Given the description of an element on the screen output the (x, y) to click on. 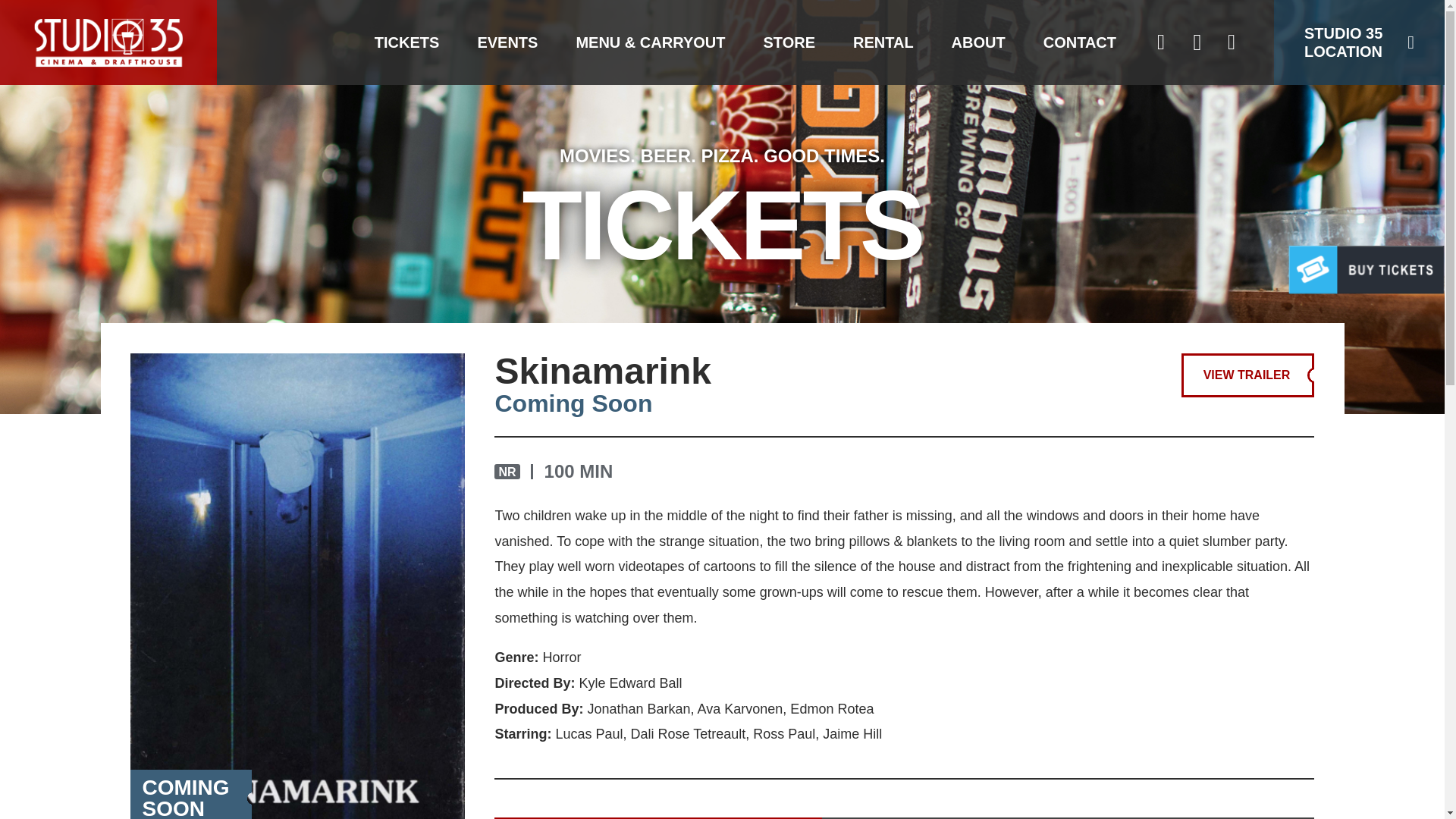
Home (108, 42)
VIEW TRAILER (1247, 374)
Twitter (1197, 42)
Instagram (1161, 42)
